Given the description of an element on the screen output the (x, y) to click on. 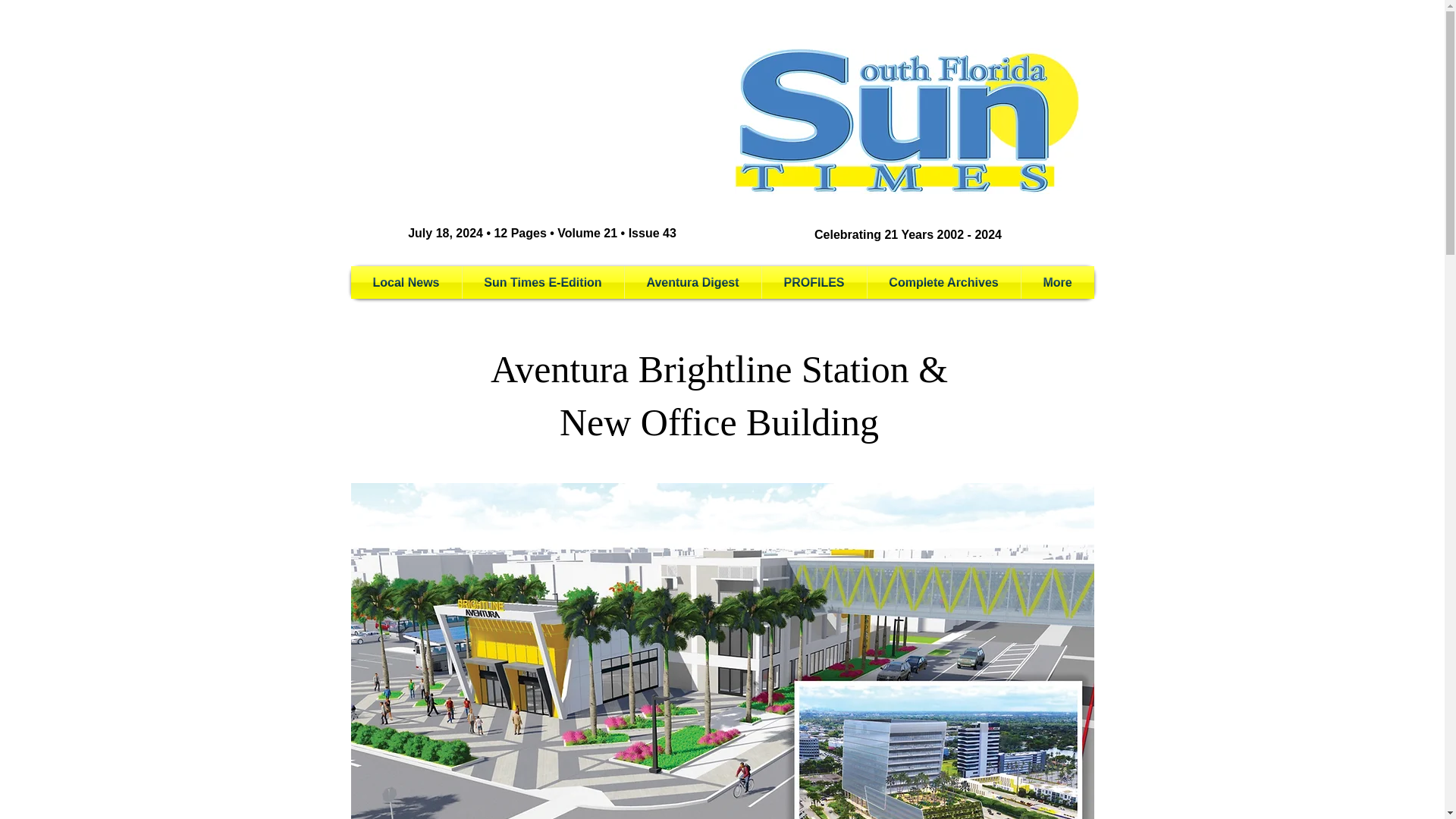
Sun Times Logo.jpg (908, 121)
Sun Times E-Edition (543, 282)
Complete Archives (943, 282)
Local News (405, 282)
Aventura Digest (692, 282)
PROFILES (813, 282)
